Given the description of an element on the screen output the (x, y) to click on. 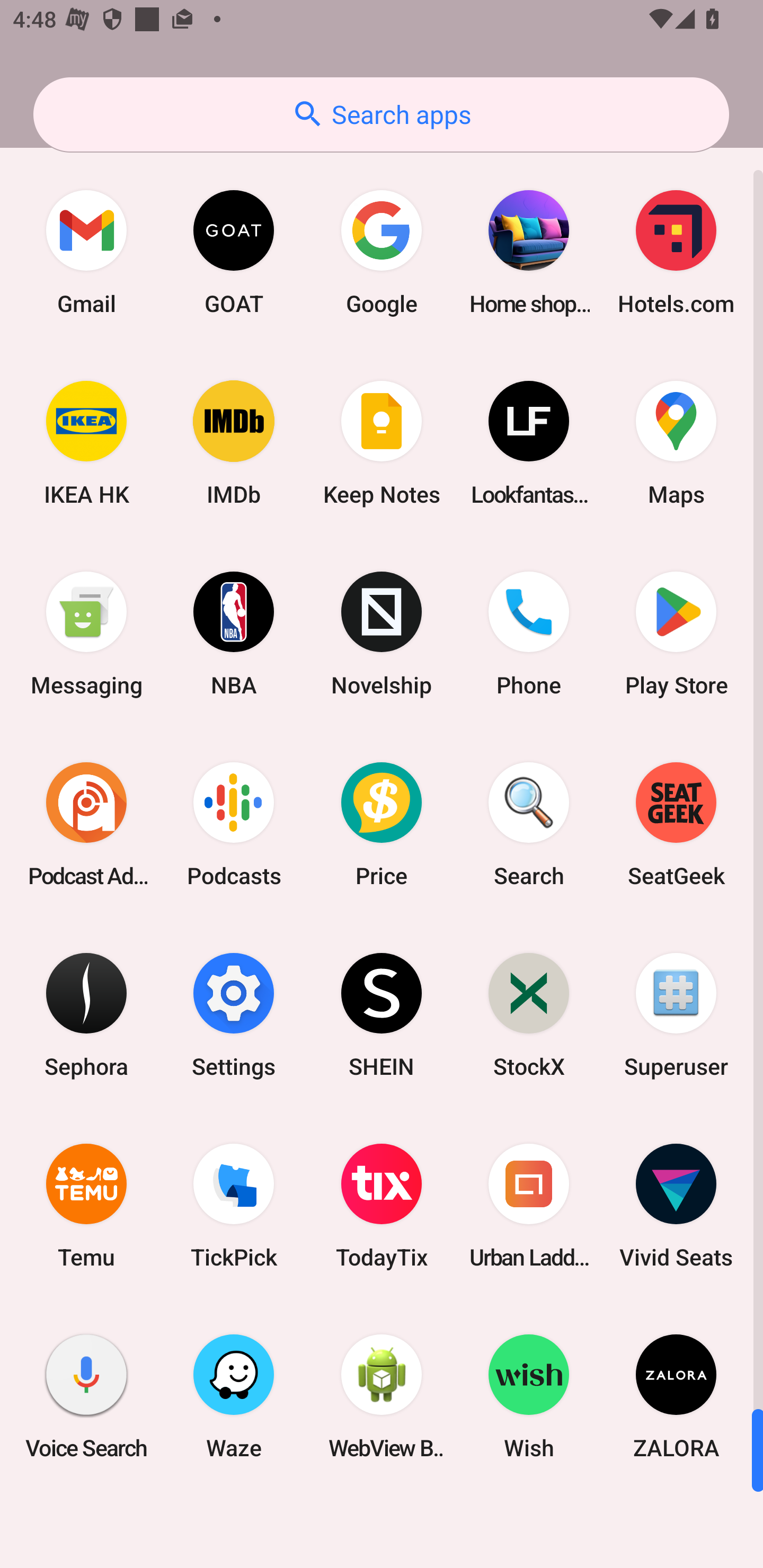
  Search apps (381, 114)
Gmail (86, 252)
GOAT (233, 252)
Google (381, 252)
Home shopping (528, 252)
Hotels.com (676, 252)
IKEA HK (86, 442)
IMDb (233, 442)
Keep Notes (381, 442)
Lookfantastic (528, 442)
Maps (676, 442)
Messaging (86, 633)
NBA (233, 633)
Novelship (381, 633)
Phone (528, 633)
Play Store (676, 633)
Podcast Addict (86, 823)
Podcasts (233, 823)
Price (381, 823)
Search (528, 823)
SeatGeek (676, 823)
Sephora (86, 1014)
Settings (233, 1014)
SHEIN (381, 1014)
StockX (528, 1014)
Superuser (676, 1014)
Temu (86, 1205)
TickPick (233, 1205)
TodayTix (381, 1205)
Urban Ladder (528, 1205)
Vivid Seats (676, 1205)
Voice Search (86, 1396)
Waze (233, 1396)
WebView Browser Tester (381, 1396)
Wish (528, 1396)
ZALORA (676, 1396)
